Given the description of an element on the screen output the (x, y) to click on. 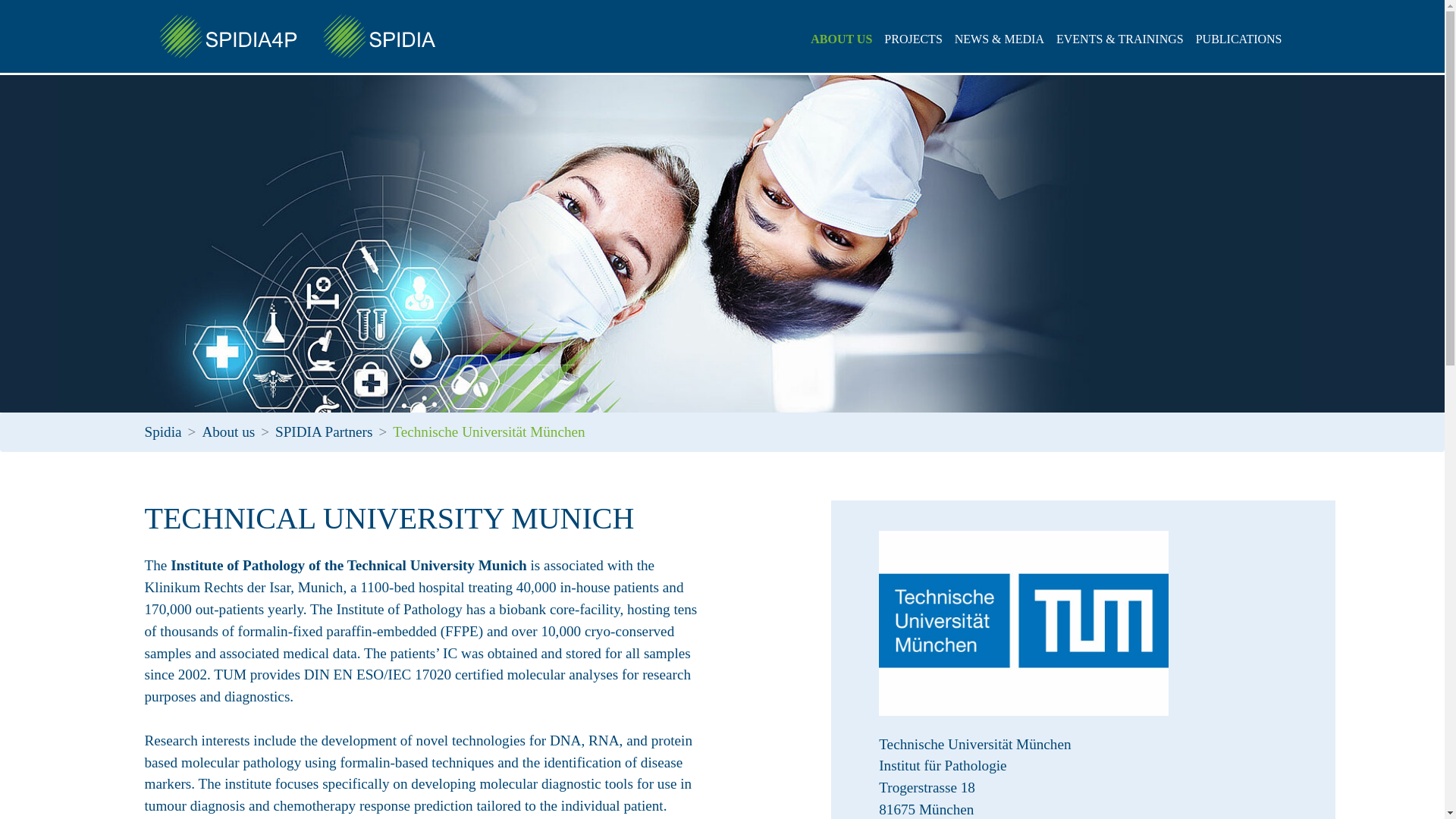
ABOUT US (841, 39)
Spidia (162, 431)
About us (228, 431)
SPIDIA Partners (323, 431)
PROJECTS (912, 39)
PUBLICATIONS (1238, 39)
